Given the description of an element on the screen output the (x, y) to click on. 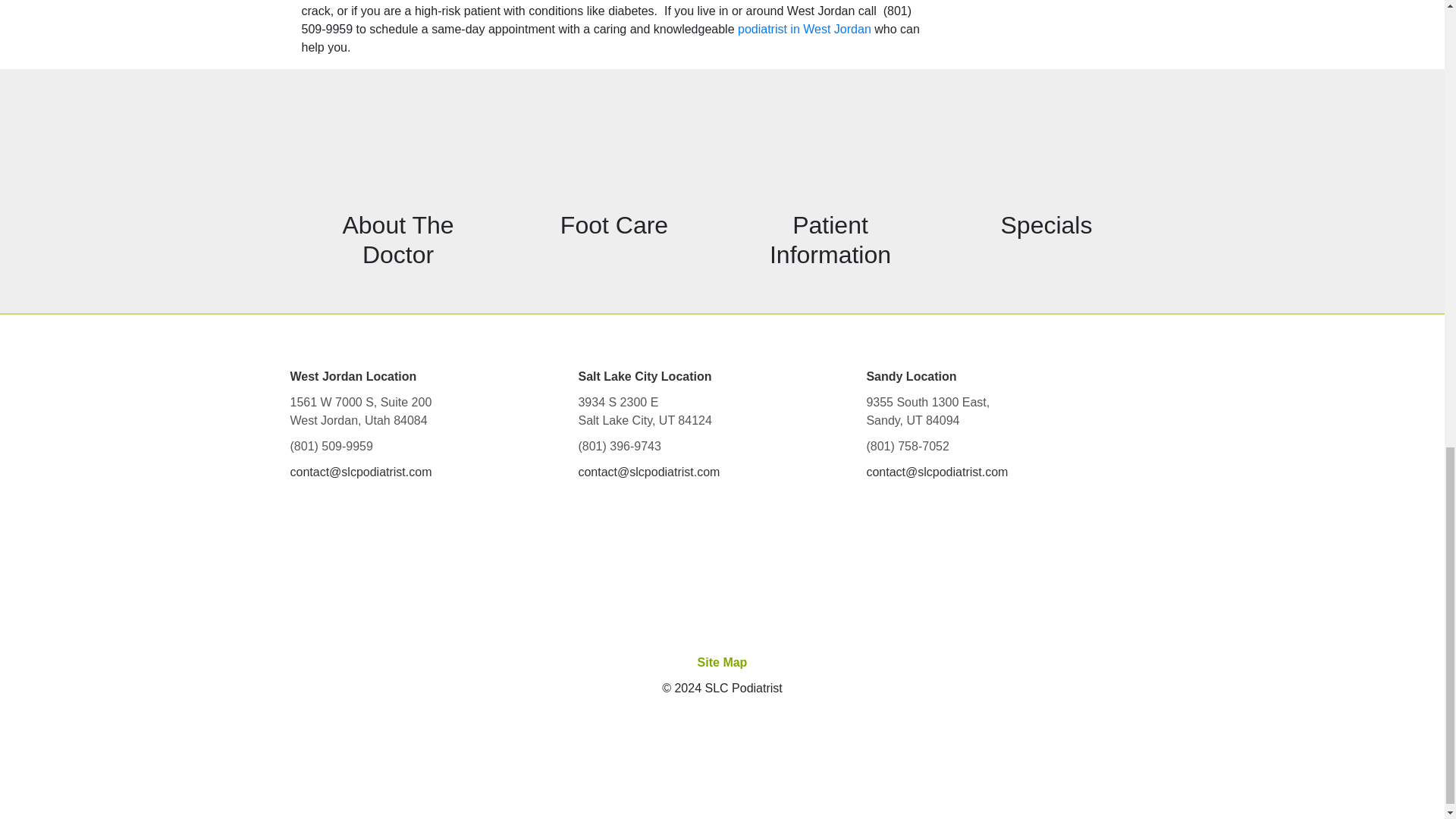
Content Protection by DMCA.com (721, 760)
